Given the description of an element on the screen output the (x, y) to click on. 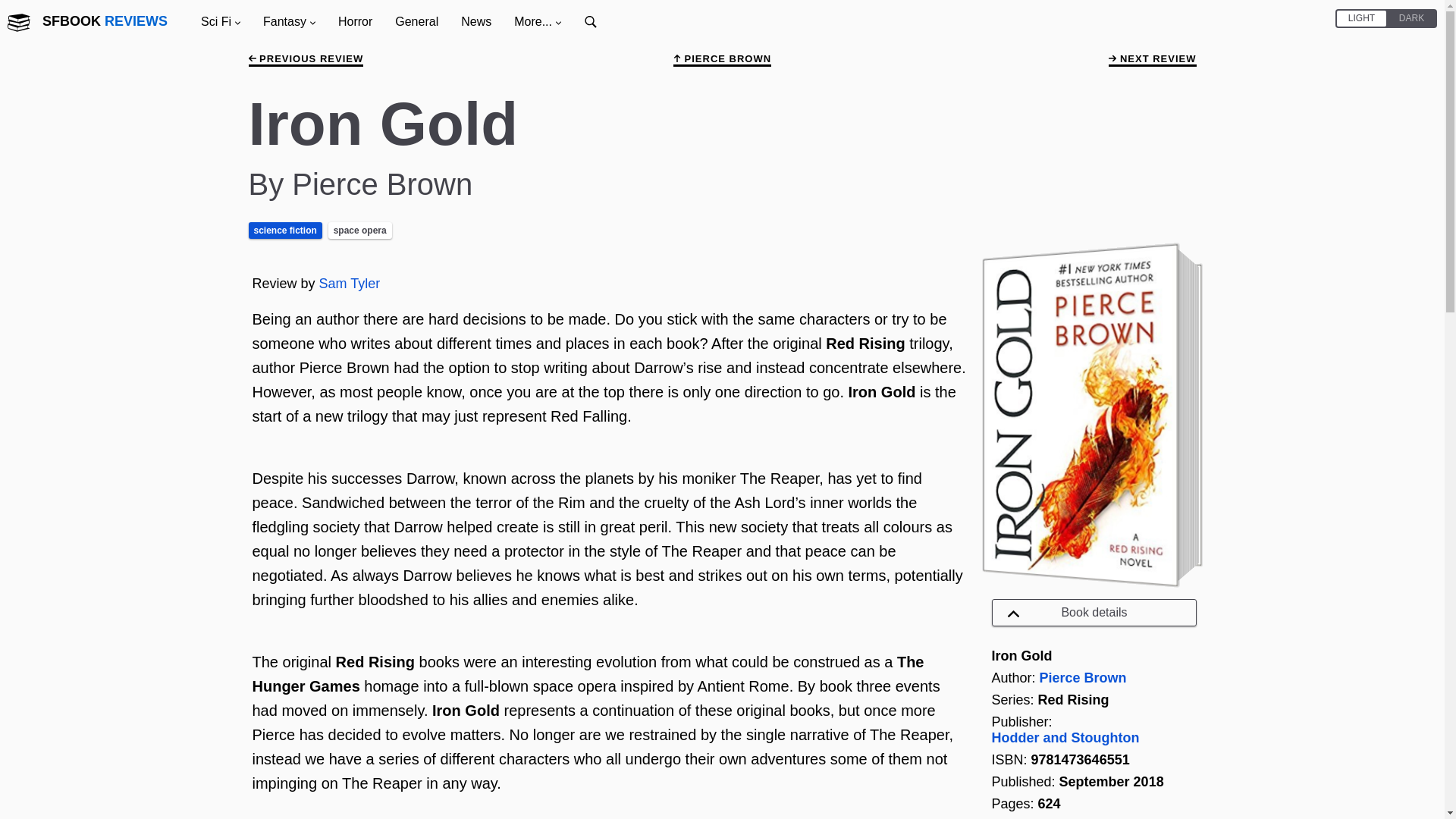
Sci Fi (220, 22)
Pierce Brown (1082, 677)
News (475, 22)
science fiction (284, 230)
PREVIOUS REVIEW (306, 59)
Book details (1093, 612)
Fantasy (288, 22)
More... (537, 22)
PIERCE BROWN (721, 59)
SFBOOK REVIEWS (105, 20)
